Given the description of an element on the screen output the (x, y) to click on. 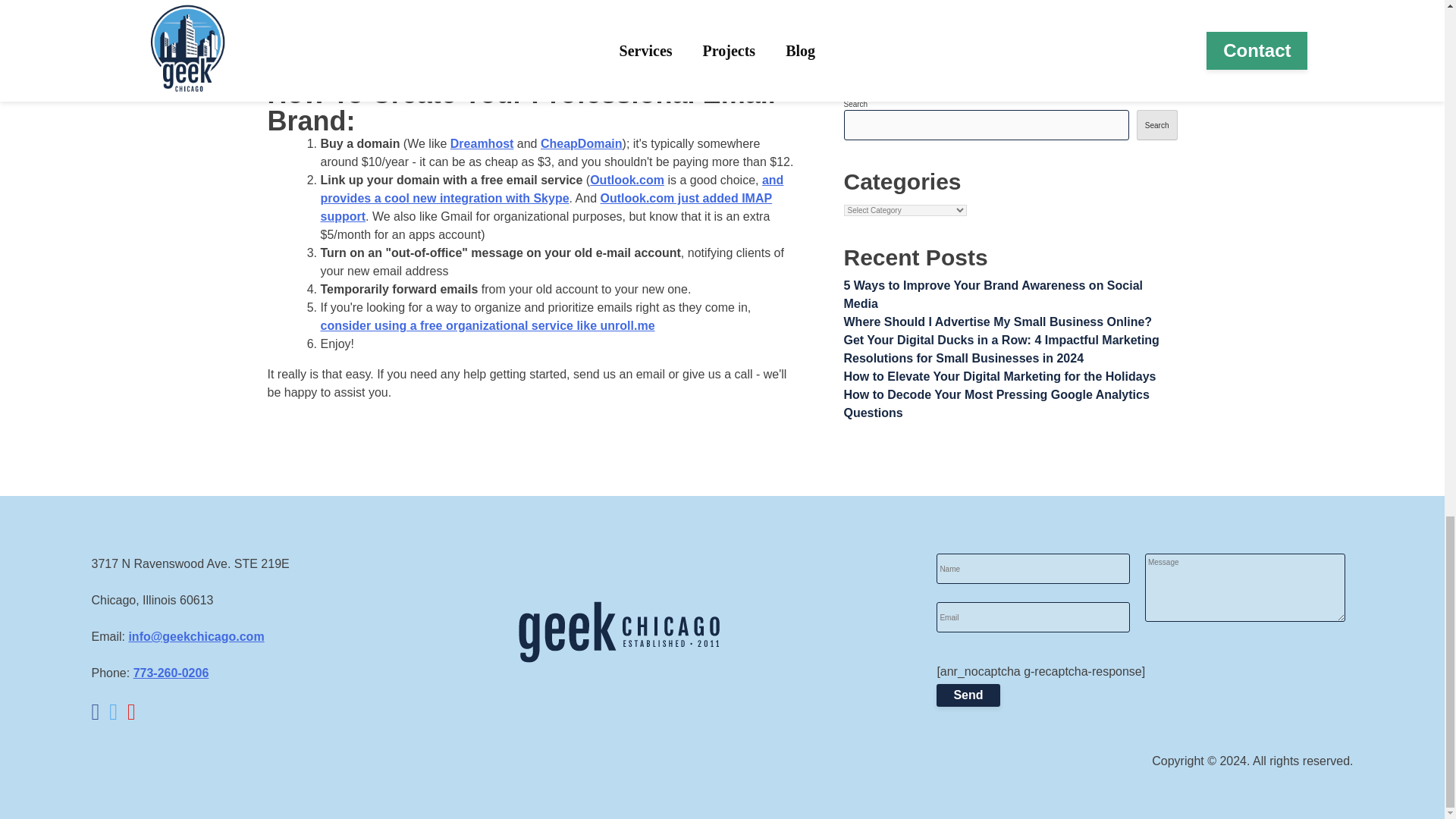
Outlook.com just added IMAP support (545, 206)
Outlook.com (626, 179)
Dreamhost (481, 143)
773-260-0206 (171, 672)
and provides a cool new integration with Skype (551, 188)
CheapDomain (581, 143)
Send (967, 694)
consider using a free organizational service like unroll.me (486, 325)
